Given the description of an element on the screen output the (x, y) to click on. 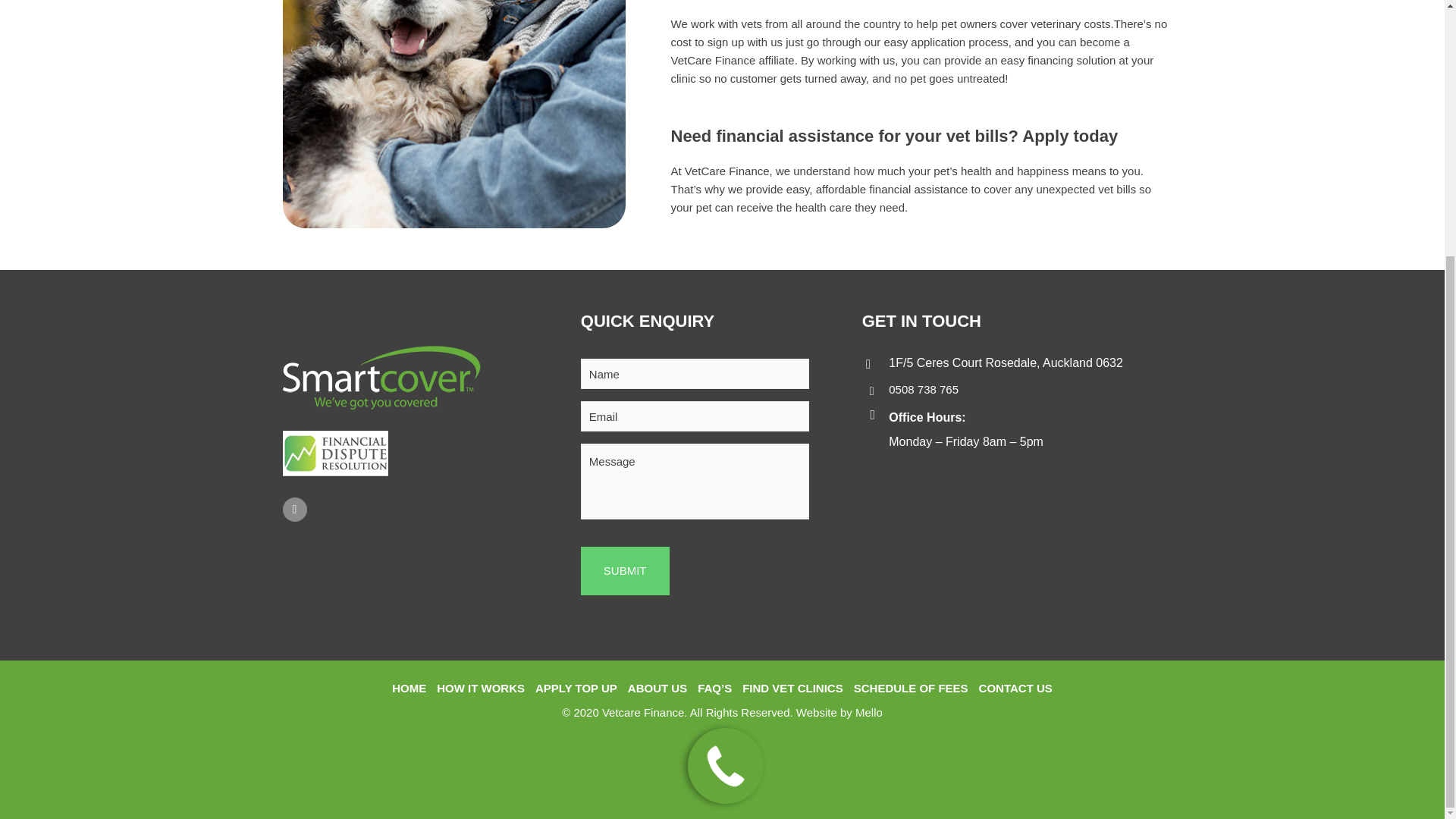
HOME (408, 688)
APPLY TOP UP (576, 688)
HOW IT WORKS (480, 688)
Facebook-f (293, 509)
CONTACT US (1015, 688)
Submit (624, 571)
SCHEDULE OF FEES (910, 688)
FIND VET CLINICS (792, 688)
Mello (869, 712)
Submit (624, 571)
ABOUT US (657, 688)
0508 738 765 (923, 389)
